Given the description of an element on the screen output the (x, y) to click on. 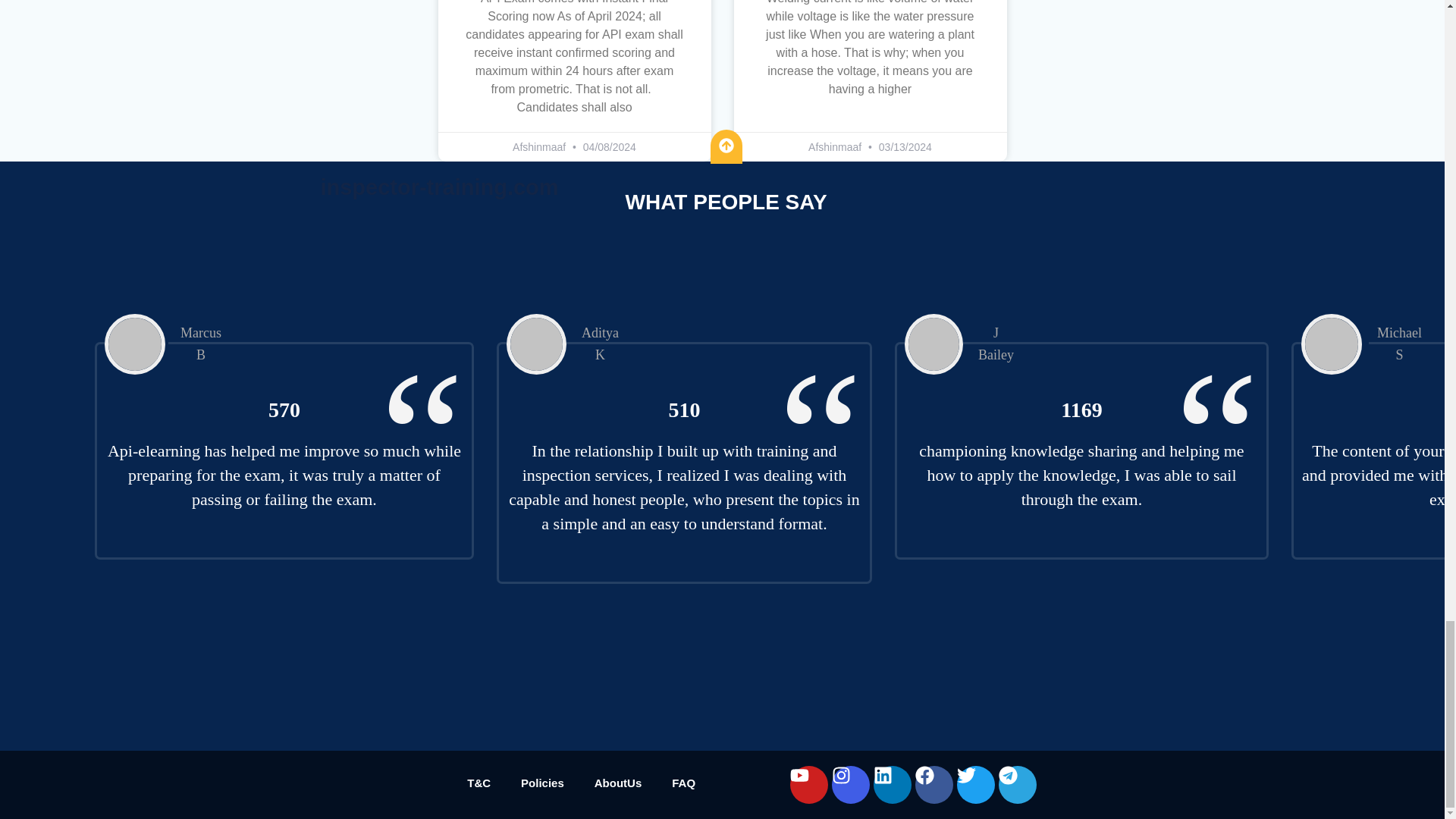
JBB (933, 343)
MS (1331, 343)
MB (134, 343)
AK (536, 343)
